Given the description of an element on the screen output the (x, y) to click on. 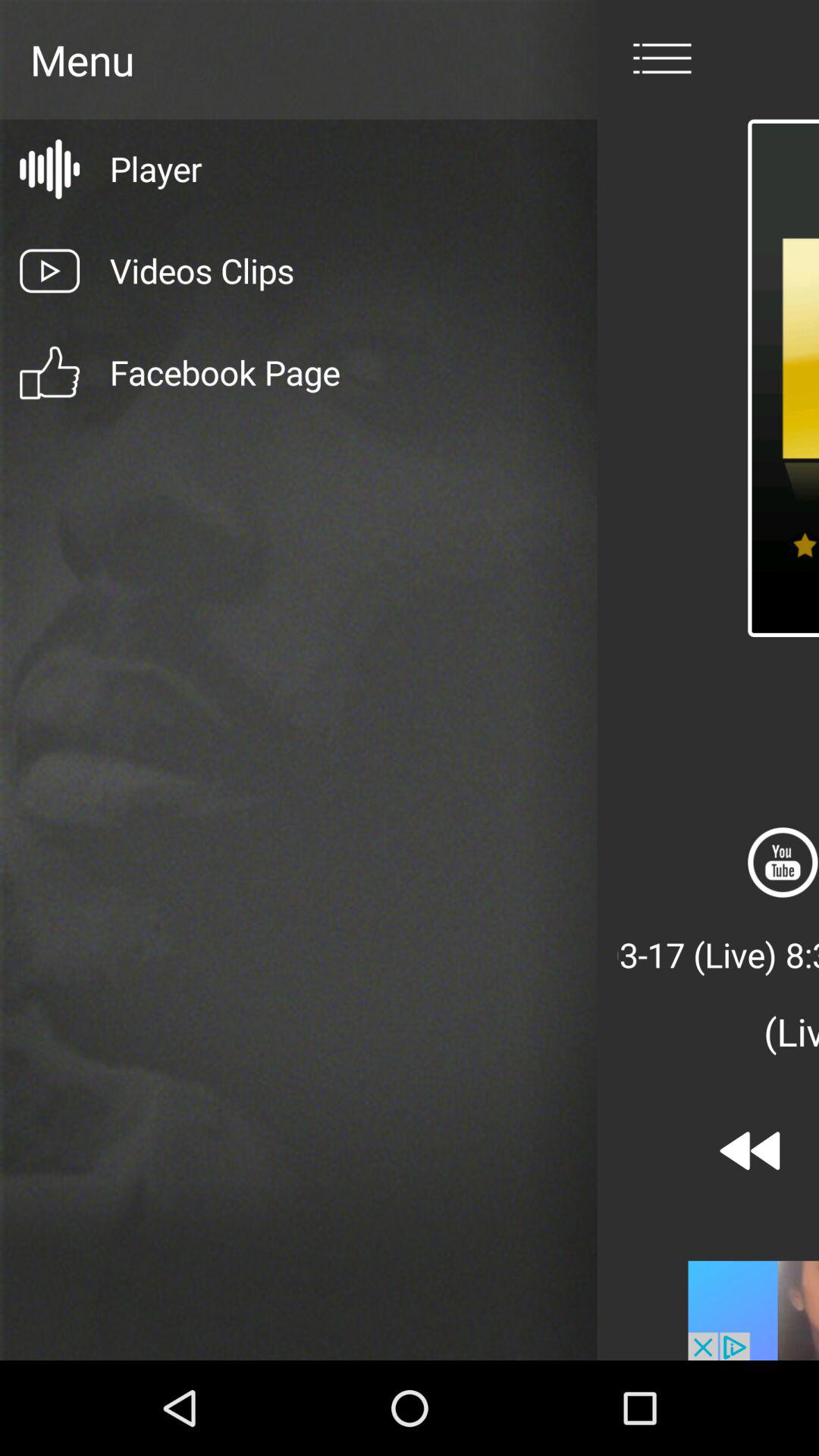
youtube option (782, 862)
